Given the description of an element on the screen output the (x, y) to click on. 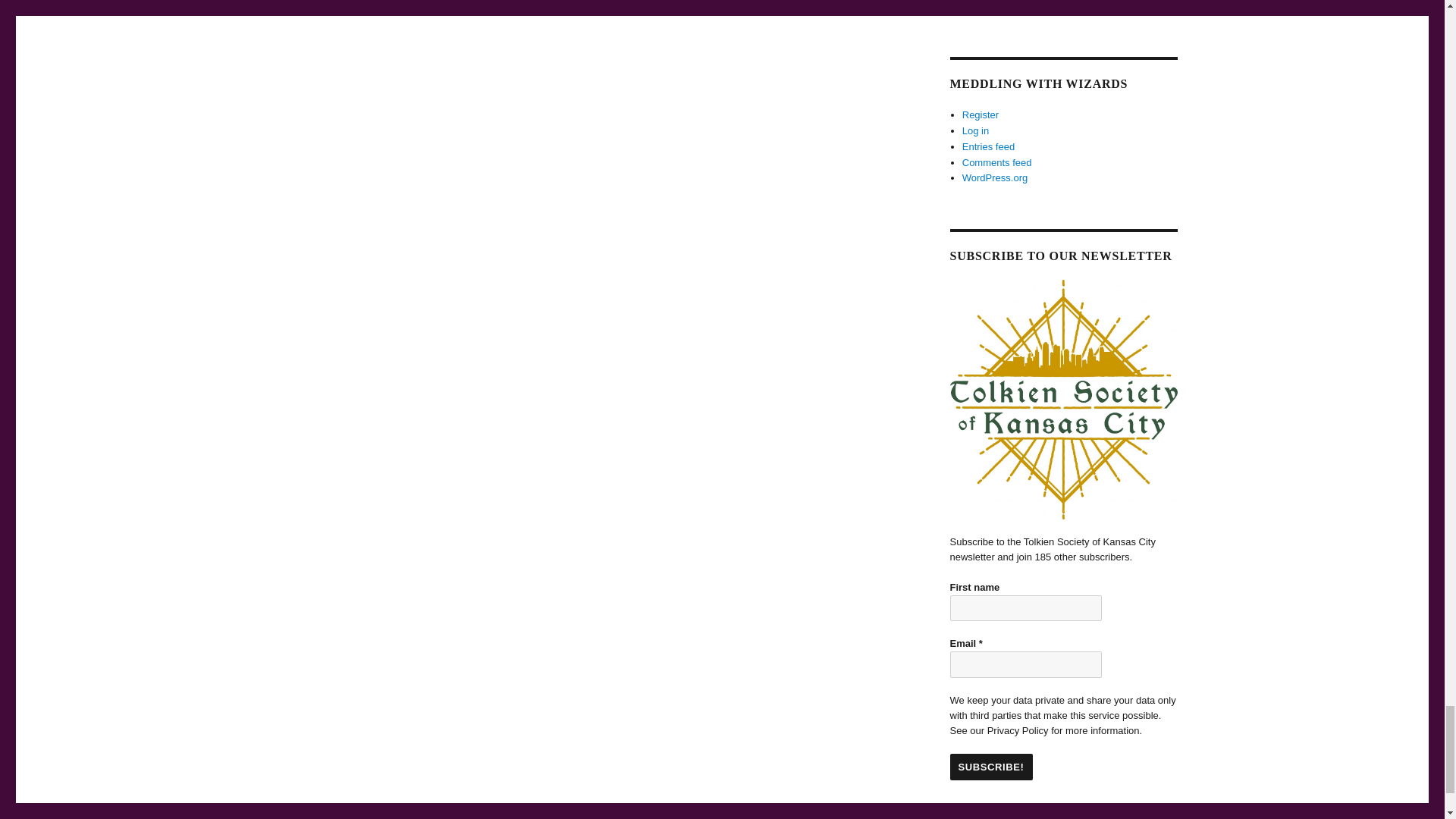
First name (1024, 607)
Email (1024, 664)
Subscribe! (990, 766)
